Given the description of an element on the screen output the (x, y) to click on. 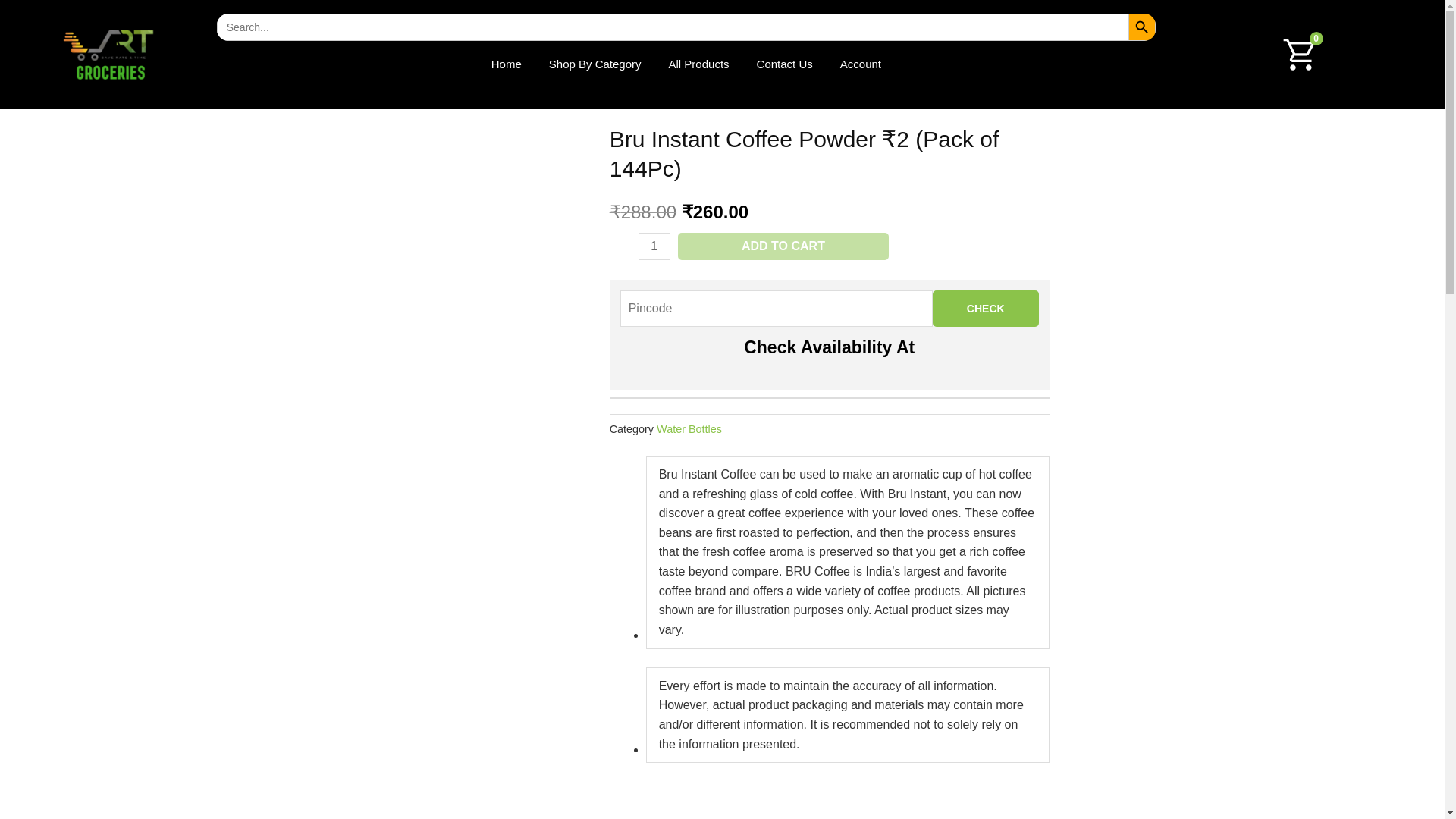
Check (986, 308)
Shop By Category (595, 64)
Home (506, 64)
1 (654, 246)
SEARCH BUTTON (1142, 26)
